Given the description of an element on the screen output the (x, y) to click on. 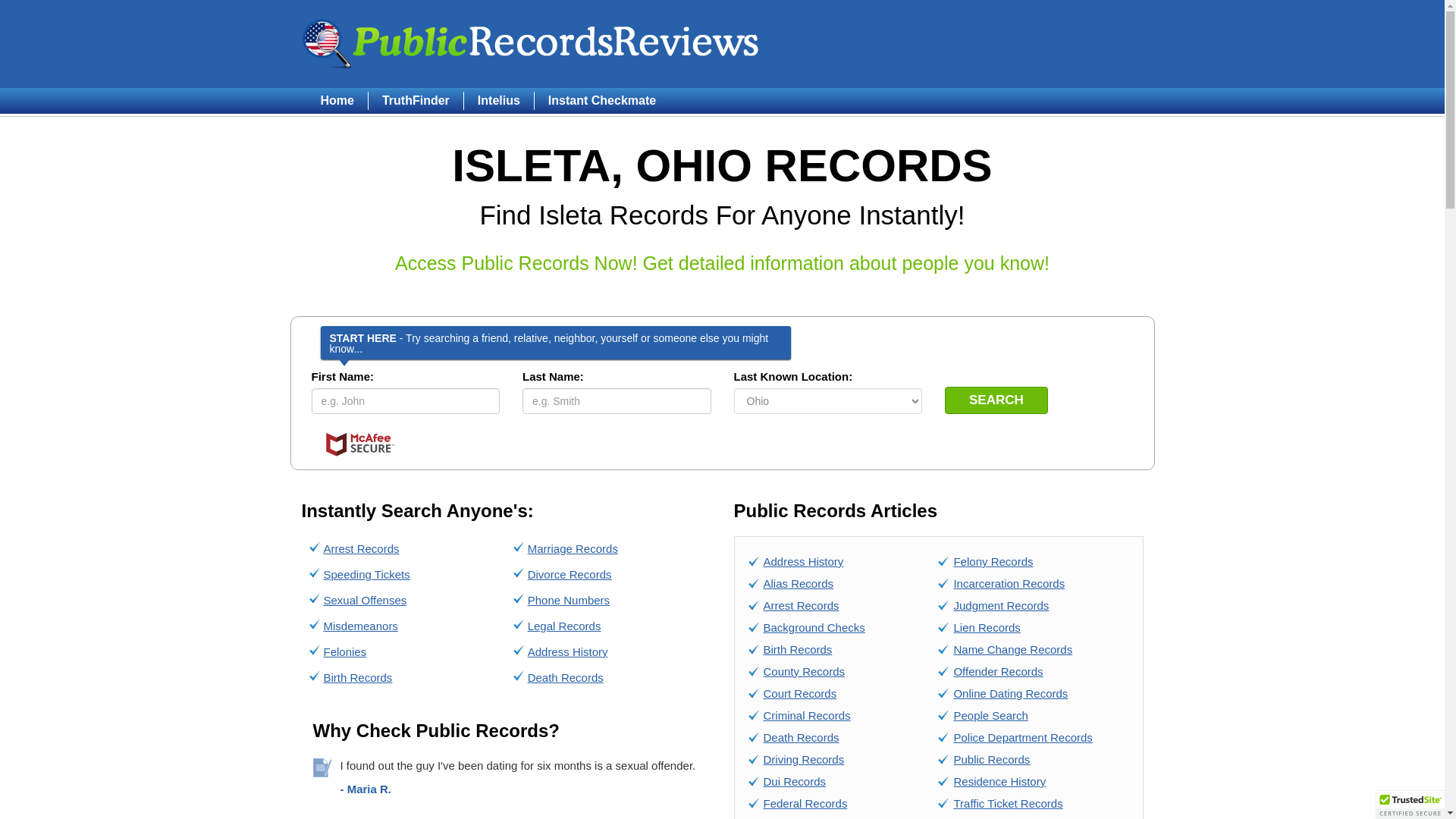
Alias Records (797, 583)
Background Checks (813, 626)
Birth Records (357, 676)
Court Records (798, 693)
Address History (802, 561)
Divorce Records (569, 574)
Criminal Records (806, 715)
SEARCH (996, 400)
Death Records (565, 676)
Felonies (344, 651)
